Given the description of an element on the screen output the (x, y) to click on. 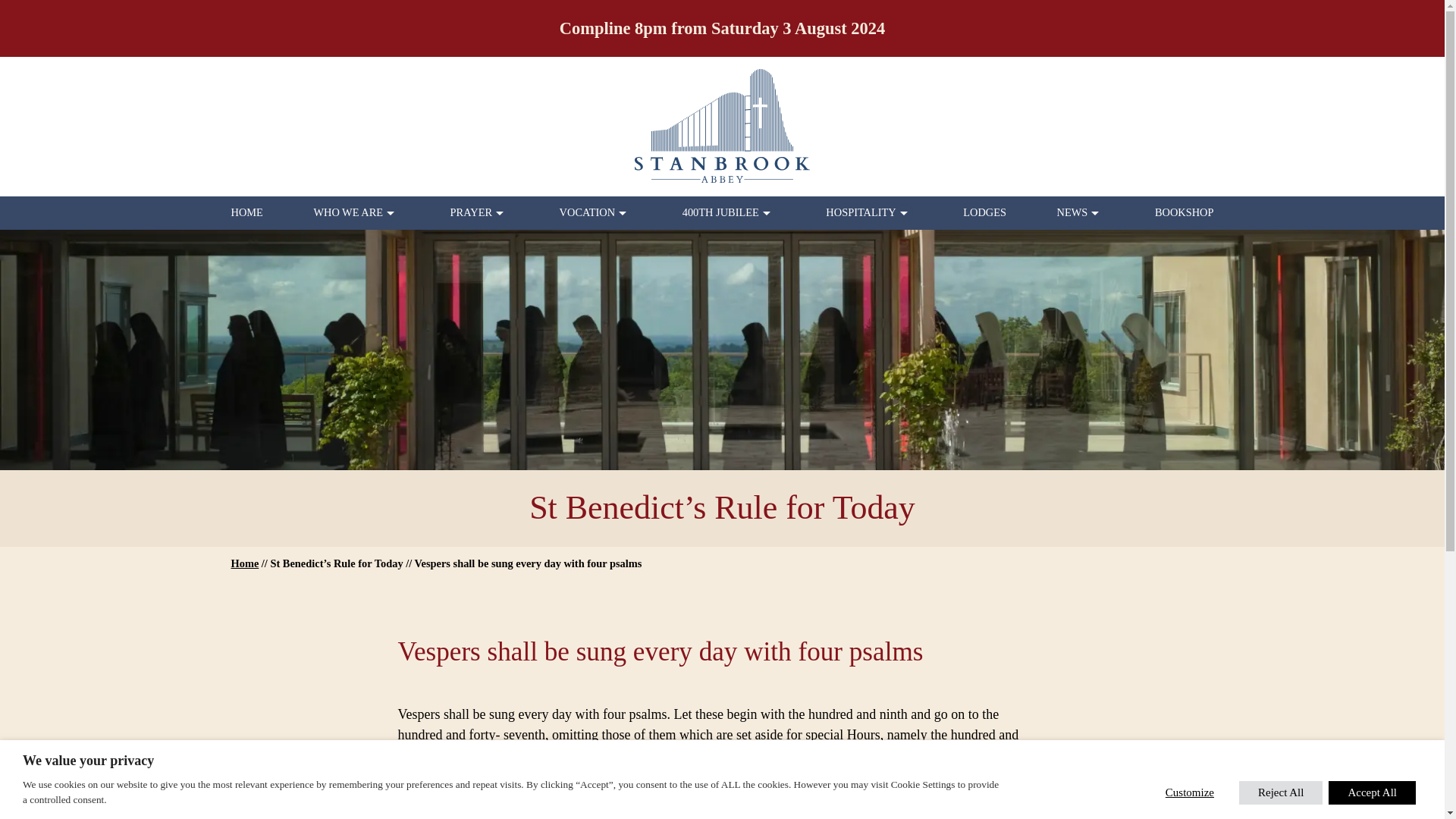
Home (244, 563)
VOCATION (587, 212)
WHO WE ARE (347, 212)
PRAYER (470, 212)
400TH JUBILEE (720, 212)
HOME (246, 212)
HOSPITALITY (860, 212)
LODGES (984, 212)
NEWS (1072, 212)
BOOKSHOP (1184, 212)
